Given the description of an element on the screen output the (x, y) to click on. 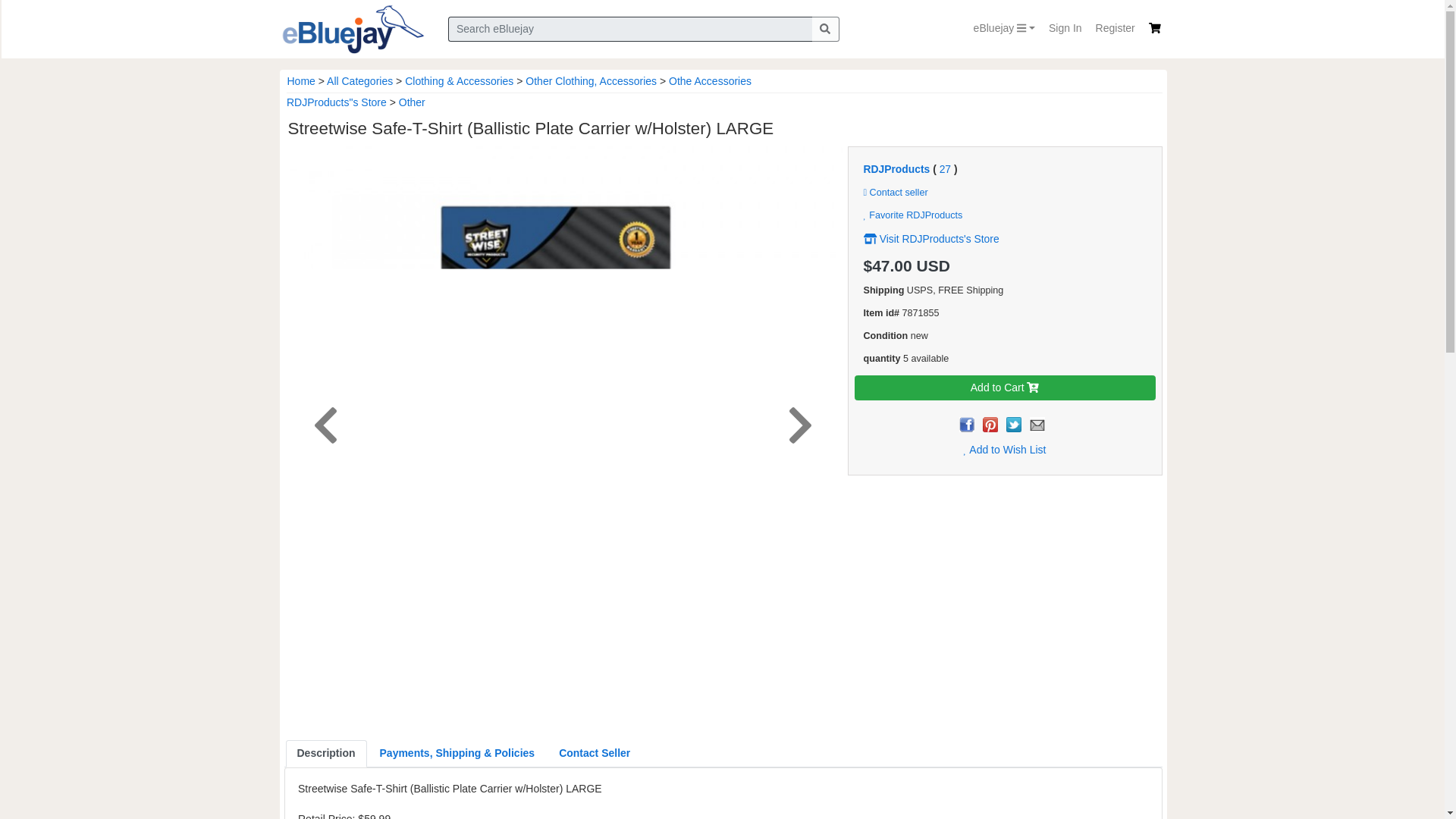
Other Clothing, Accessories (590, 80)
US Dollars (933, 265)
eBluejay (1004, 28)
RDJProducts"s Store (336, 102)
Purchase items in your shopping cart (1154, 27)
Other (411, 102)
All Categories (359, 80)
Othe Accessories (709, 80)
eBluejay categories (1004, 28)
Purchase items in your shopping cart (1154, 27)
eBluejay Online Marketplace (352, 29)
Home (300, 80)
submit (824, 29)
Register (1115, 28)
